Given the description of an element on the screen output the (x, y) to click on. 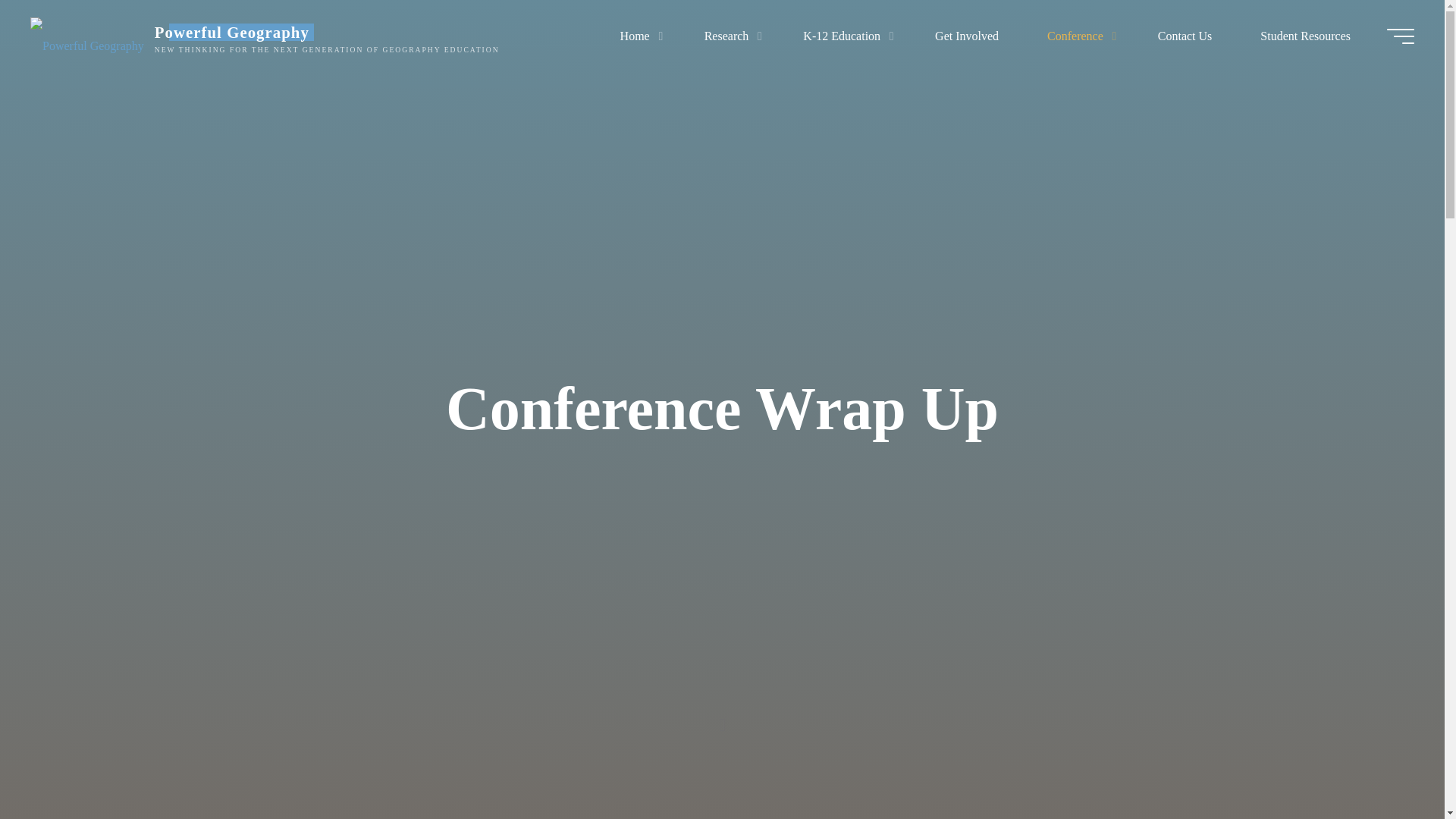
Powerful Geography (87, 35)
Read more (721, 724)
New Thinking for the Next Generation of Geography Education (231, 31)
